Given the description of an element on the screen output the (x, y) to click on. 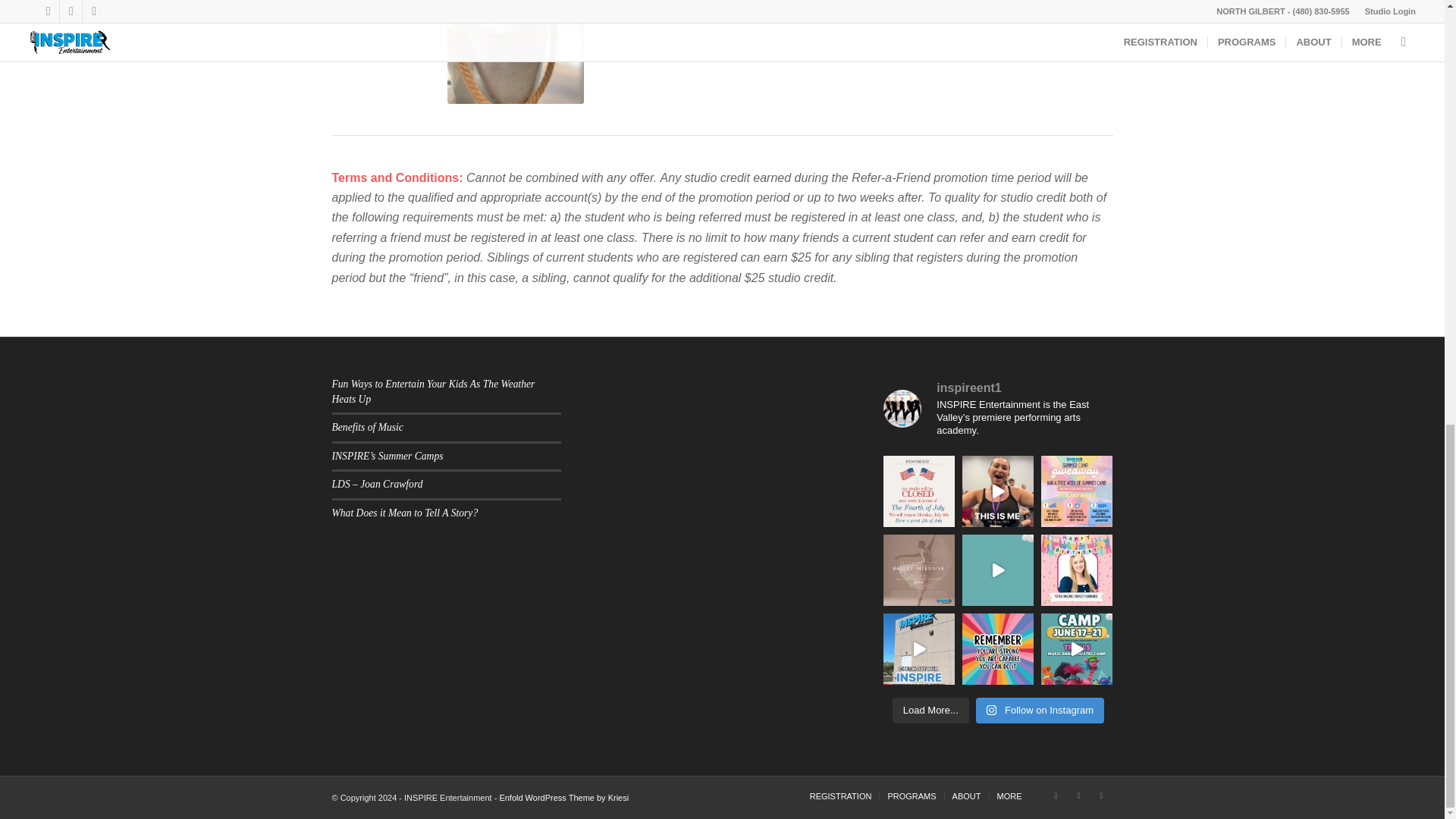
Facebook (1056, 794)
Instagram (1078, 794)
Youtube (1101, 794)
